Given the description of an element on the screen output the (x, y) to click on. 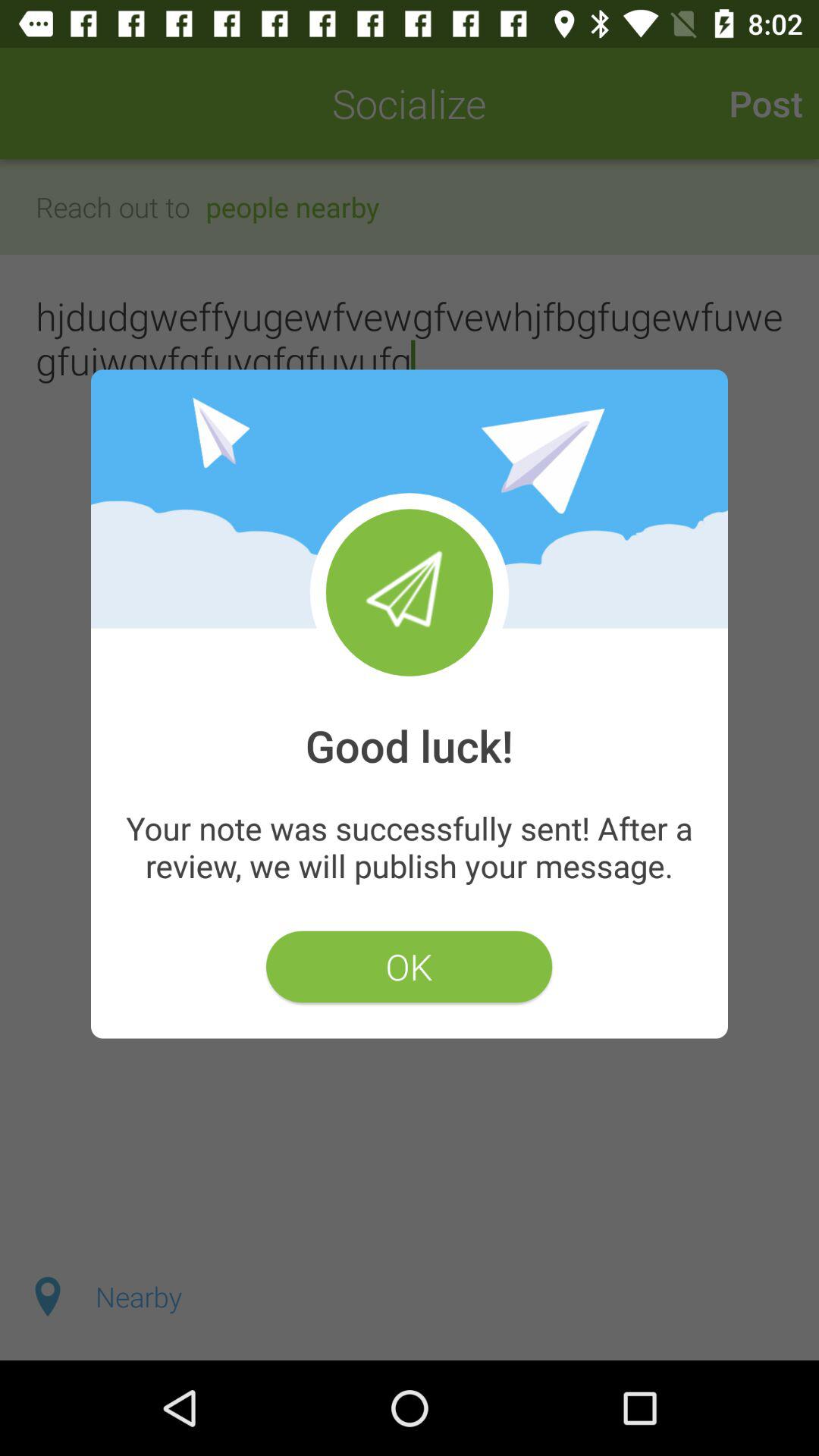
open the item below your note was (409, 966)
